Given the description of an element on the screen output the (x, y) to click on. 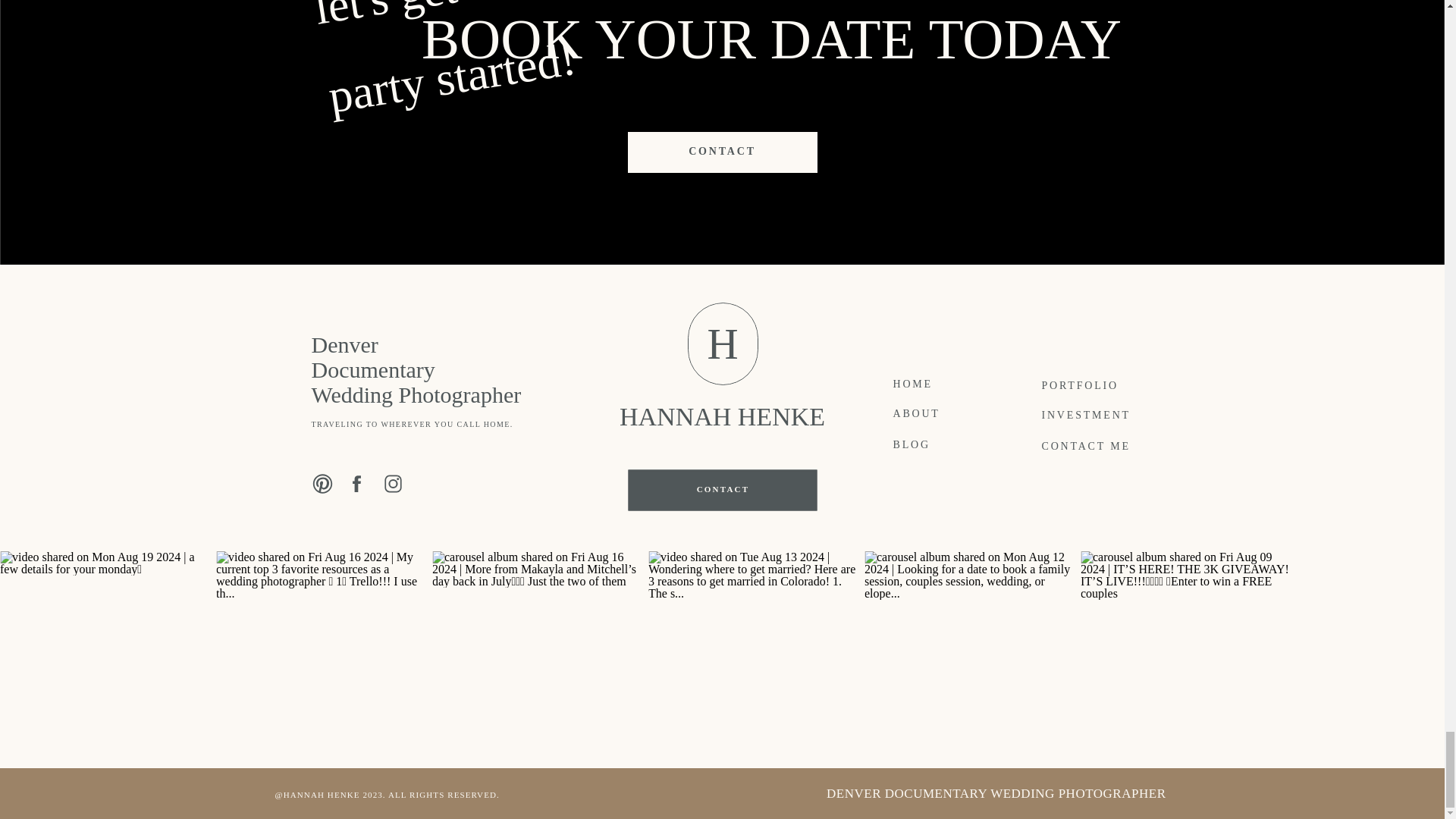
PORTFOLIO (1099, 391)
CONTACT (721, 151)
HOME (944, 389)
ABOUT (943, 418)
BLOG (952, 449)
